Given the description of an element on the screen output the (x, y) to click on. 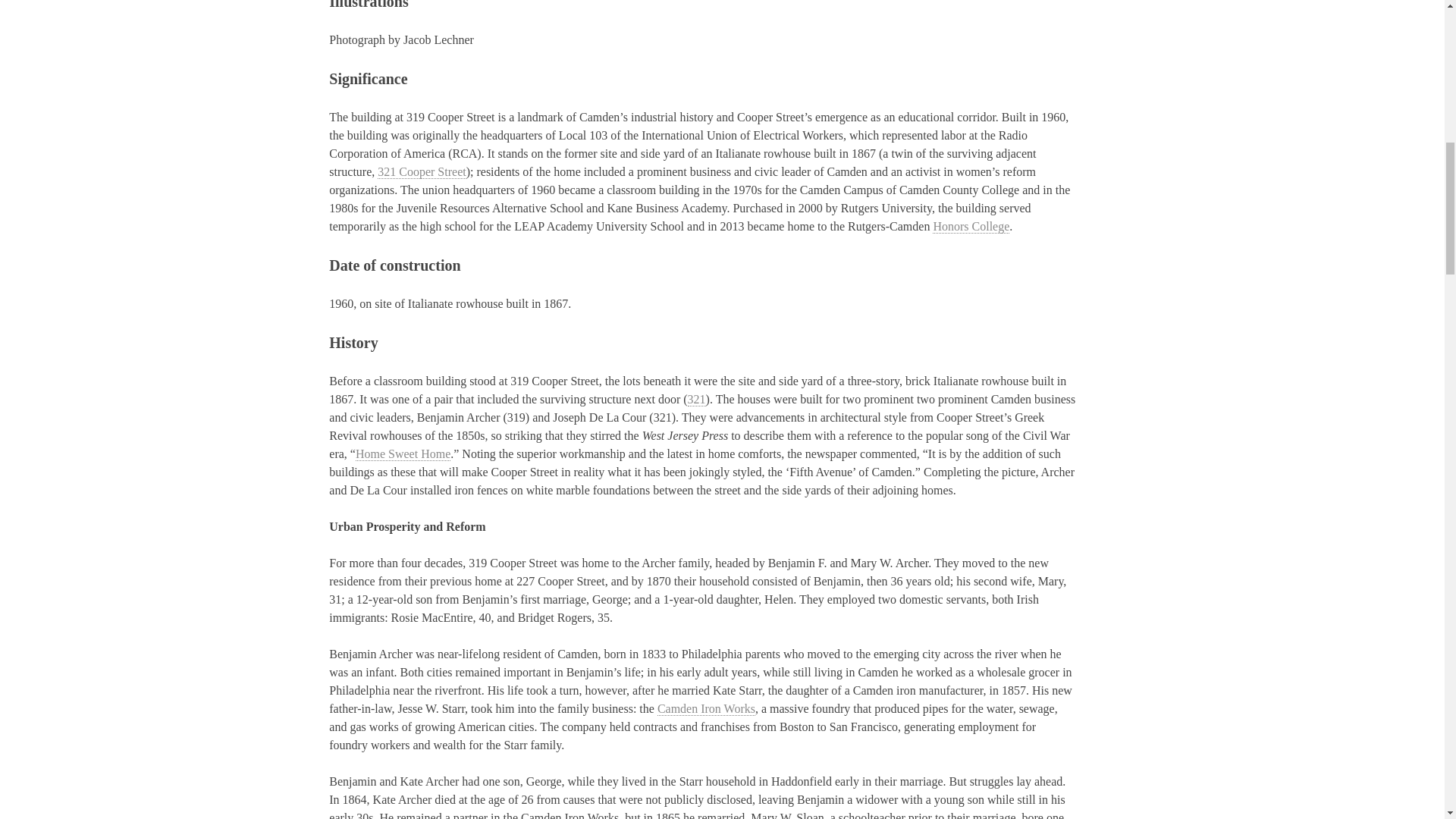
Home Sweet Home (402, 454)
321 Cooper Street (421, 172)
Camden Iron Works (706, 708)
321 (696, 399)
Honors College (971, 226)
